Given the description of an element on the screen output the (x, y) to click on. 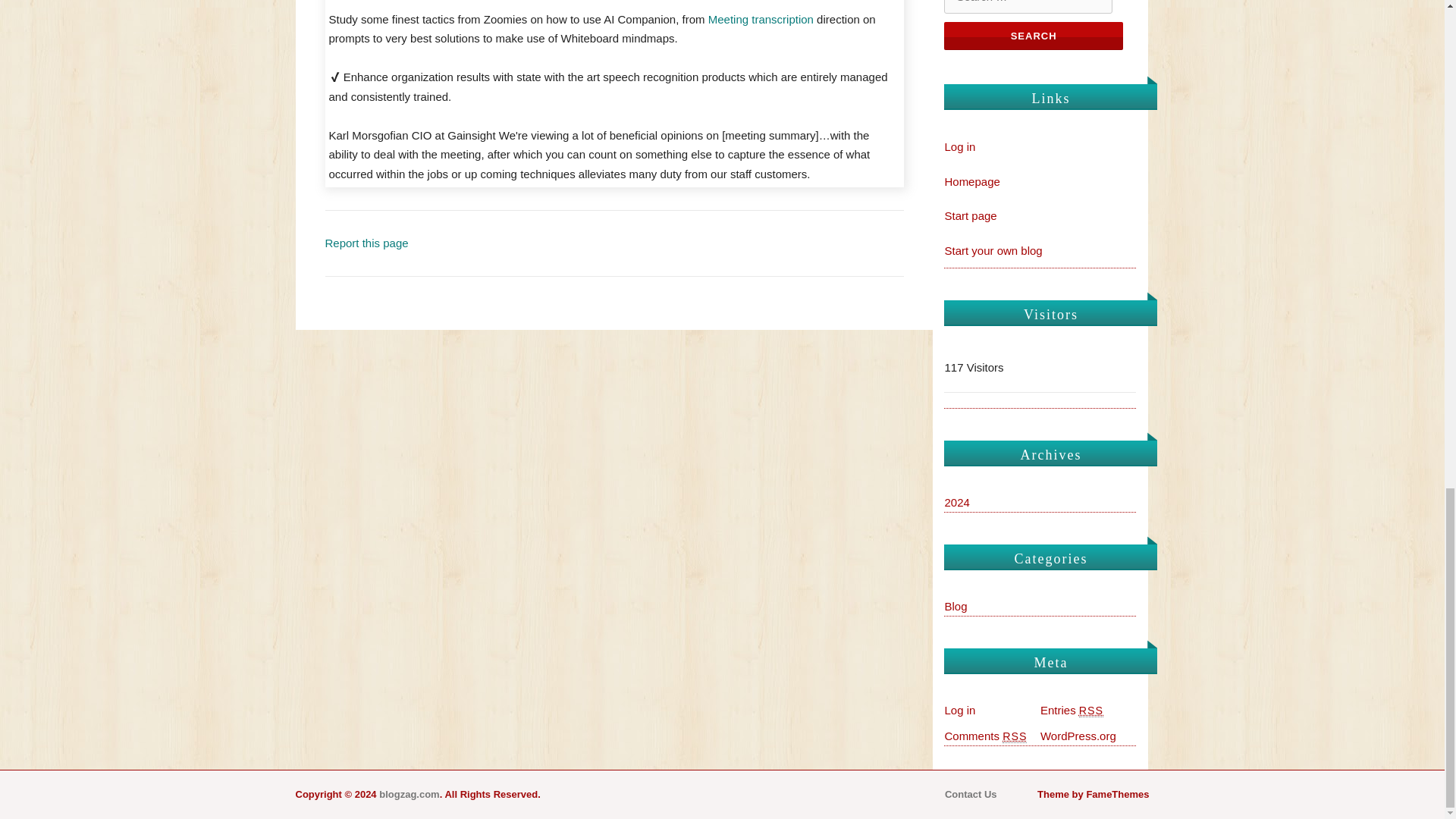
Start your own blog (992, 250)
Search (1032, 35)
Search (1032, 35)
Log in (959, 146)
Comments RSS (984, 735)
2024 (956, 502)
Really Simple Syndication (1014, 736)
WordPress.org (1078, 735)
Entries RSS (1072, 709)
Homepage (970, 181)
Log in (959, 709)
Report this page (365, 242)
Search (1032, 35)
Meeting transcription (760, 19)
